Given the description of an element on the screen output the (x, y) to click on. 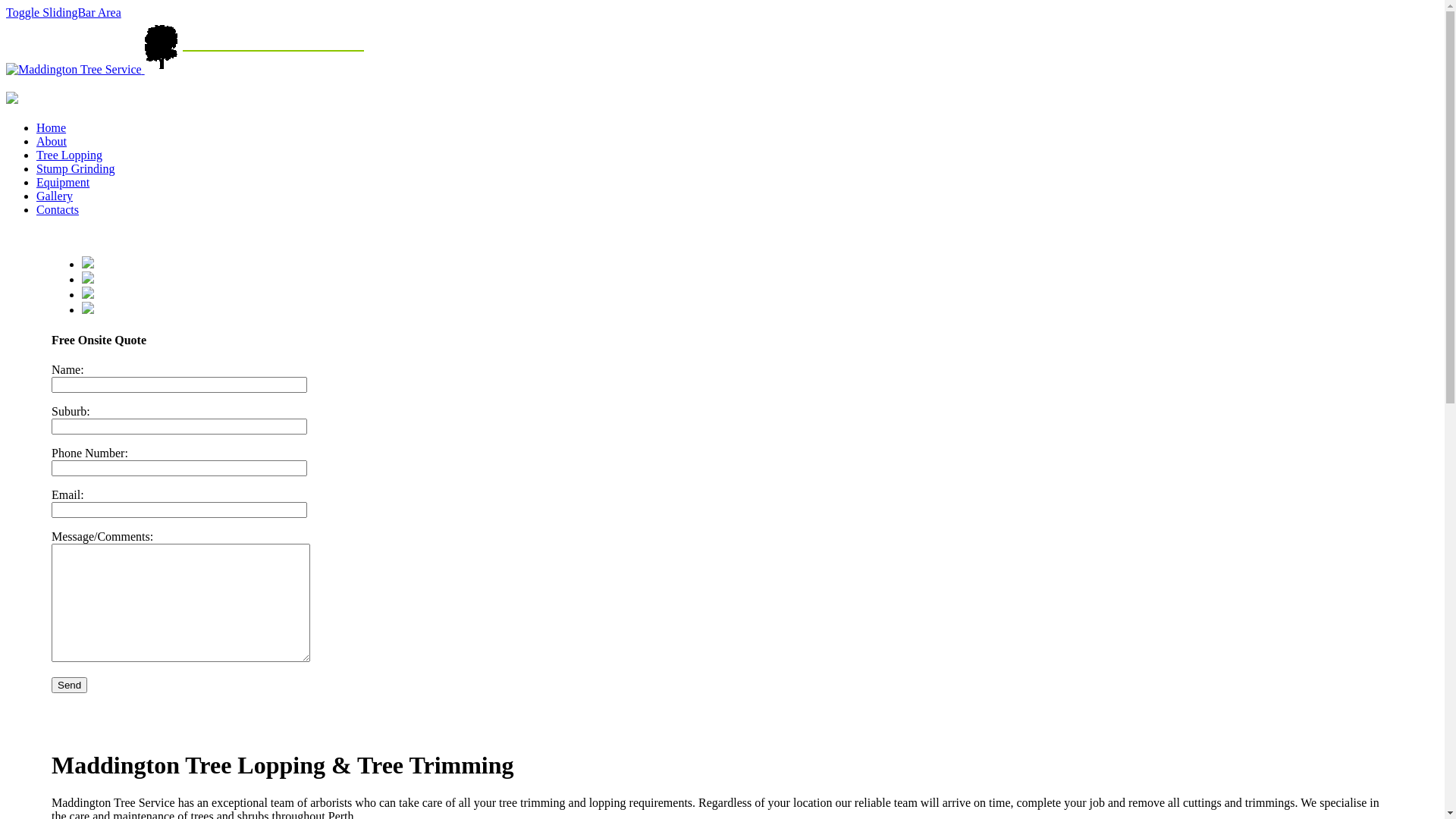
Tree Lopping Element type: text (69, 154)
Gallery Element type: text (54, 195)
Send Element type: text (69, 685)
Equipment Element type: text (62, 181)
Contacts Element type: text (57, 209)
About Element type: text (51, 140)
Home Element type: text (50, 127)
Stump Grinding Element type: text (75, 168)
Toggle SlidingBar Area Element type: text (63, 12)
